Given the description of an element on the screen output the (x, y) to click on. 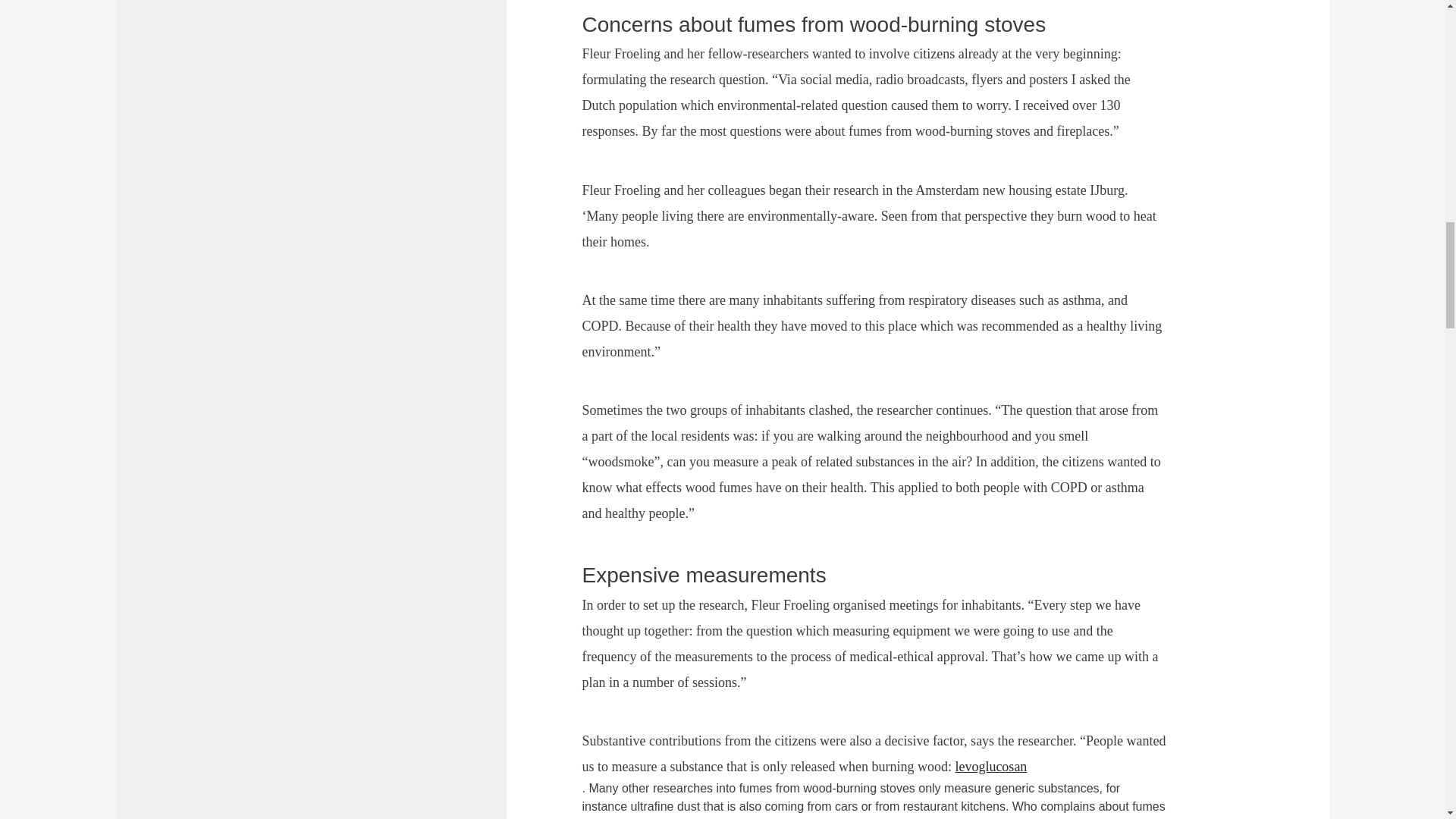
levoglucosan (1000, 766)
